Given the description of an element on the screen output the (x, y) to click on. 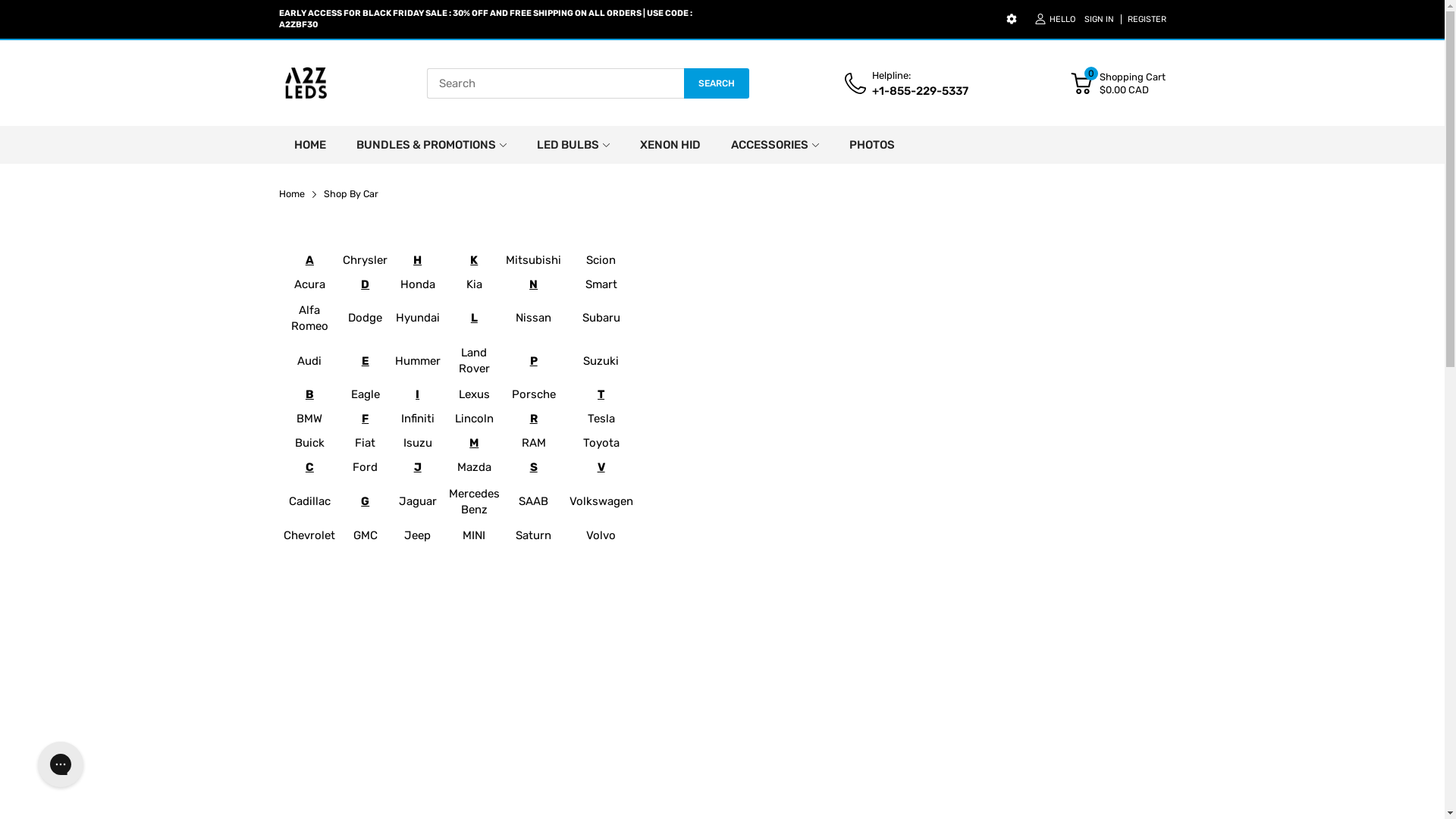
Isuzu Element type: text (417, 442)
PHOTOS Element type: text (871, 144)
Audi Element type: text (309, 360)
Chrysler Element type: text (364, 259)
Hummer Element type: text (417, 360)
Fiat Element type: text (364, 442)
XENON HID Element type: text (670, 144)
Lincoln Element type: text (474, 418)
Scion Element type: text (600, 259)
SIGN IN Element type: text (1098, 19)
Volkswagen Element type: text (601, 501)
0 Element type: text (1081, 83)
SAAB Element type: text (533, 501)
MINI Element type: text (473, 535)
BMW Element type: text (309, 418)
GMC Element type: text (365, 535)
Lexus Element type: text (473, 394)
Shop By Car Element type: text (350, 193)
Dodge Element type: text (365, 317)
Jeep Element type: text (417, 535)
Alfa Romeo Element type: text (309, 317)
Mazda Element type: text (474, 466)
BUNDLES & PROMOTIONS Element type: text (425, 144)
Eagle Element type: text (365, 394)
Toyota Element type: text (601, 442)
Infiniti Element type: text (417, 418)
HOME Element type: text (310, 144)
ACCESSORIES Element type: text (769, 144)
Suzuki Element type: text (600, 360)
Saturn Element type: text (533, 535)
Land Rover Element type: text (473, 360)
Jaguar Element type: text (417, 501)
Kia Element type: text (474, 284)
Gorgias live chat messenger Element type: hover (60, 764)
Home Element type: text (291, 193)
RAM Element type: text (533, 442)
REGISTER Element type: text (1143, 19)
Acura Element type: text (309, 284)
Tesla Element type: text (601, 418)
Mitsubishi Element type: text (533, 259)
Hyundai Element type: text (417, 317)
HELLO Element type: text (1054, 19)
+1-855-229-5337 Element type: text (920, 91)
LED BULBS Element type: text (567, 144)
Buick Element type: text (309, 442)
Smart Element type: text (601, 284)
Cadillac Element type: text (309, 501)
SEARCH Element type: text (716, 83)
Volvo Element type: text (600, 535)
Ford Element type: text (364, 466)
Subaru Element type: text (601, 317)
Honda Element type: text (417, 284)
Nissan Element type: text (533, 317)
Porsche Element type: text (533, 394)
Mercedes Benz Element type: text (473, 501)
Chevrolet Element type: text (309, 535)
